Given the description of an element on the screen output the (x, y) to click on. 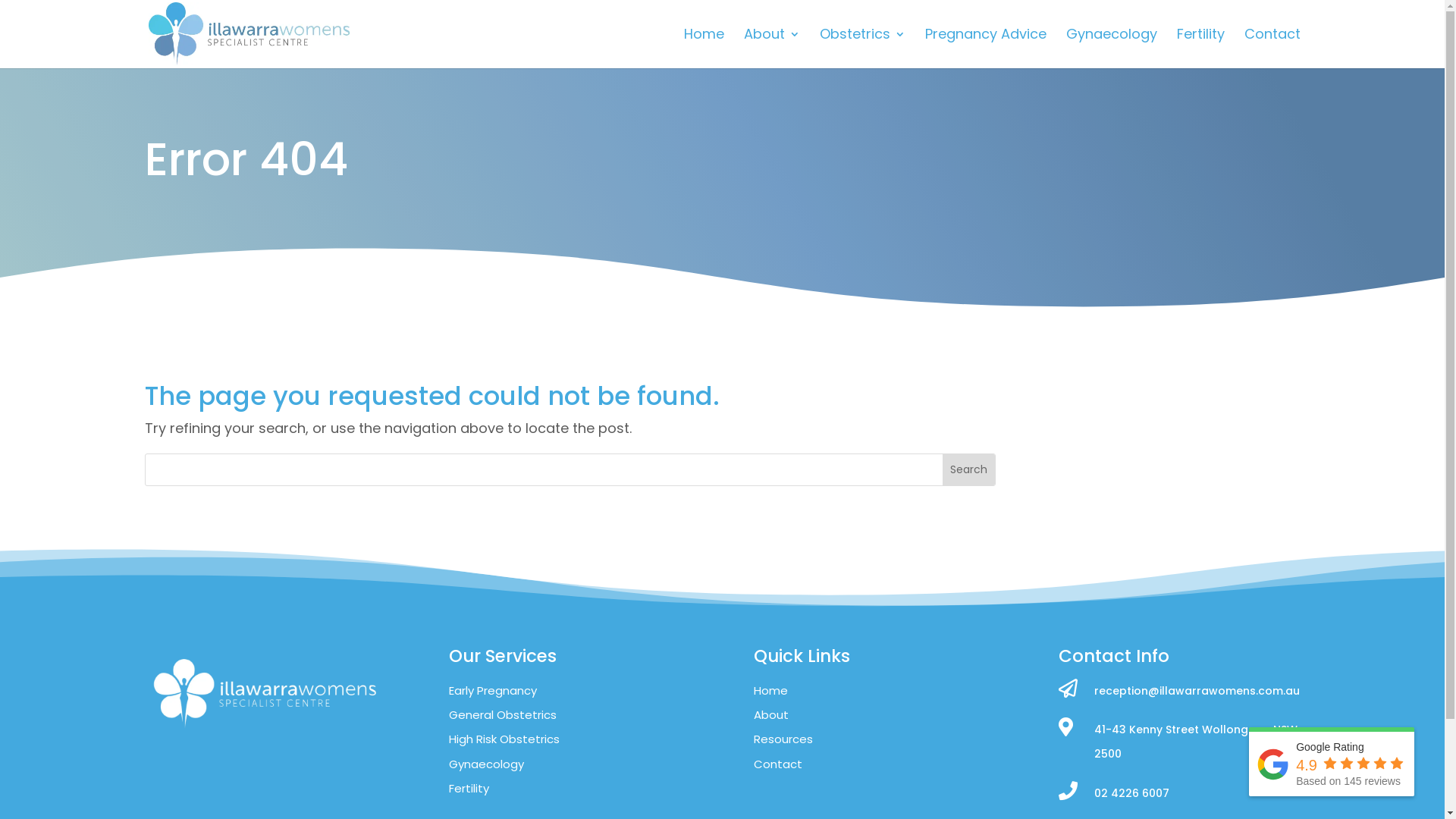
High Risk Obstetrics Element type: text (503, 738)
Gynaecology Element type: text (486, 763)
Home Element type: text (704, 48)
About Element type: text (771, 48)
reception@illawarrawomens.com.au Element type: text (1196, 690)
Fertility Element type: text (468, 788)
IWSC-Transparent Element type: hover (264, 693)
General Obstetrics Element type: text (502, 714)
Home Element type: text (770, 690)
Contact Element type: text (777, 763)
Resources Element type: text (782, 738)
Obstetrics Element type: text (861, 48)
Gynaecology Element type: text (1111, 48)
About Element type: text (770, 714)
02 4226 6007 Element type: text (1131, 792)
Search Element type: text (968, 469)
Pregnancy Advice Element type: text (985, 48)
Fertility Element type: text (1200, 48)
Early Pregnancy Element type: text (492, 690)
Contact Element type: text (1271, 48)
